Given the description of an element on the screen output the (x, y) to click on. 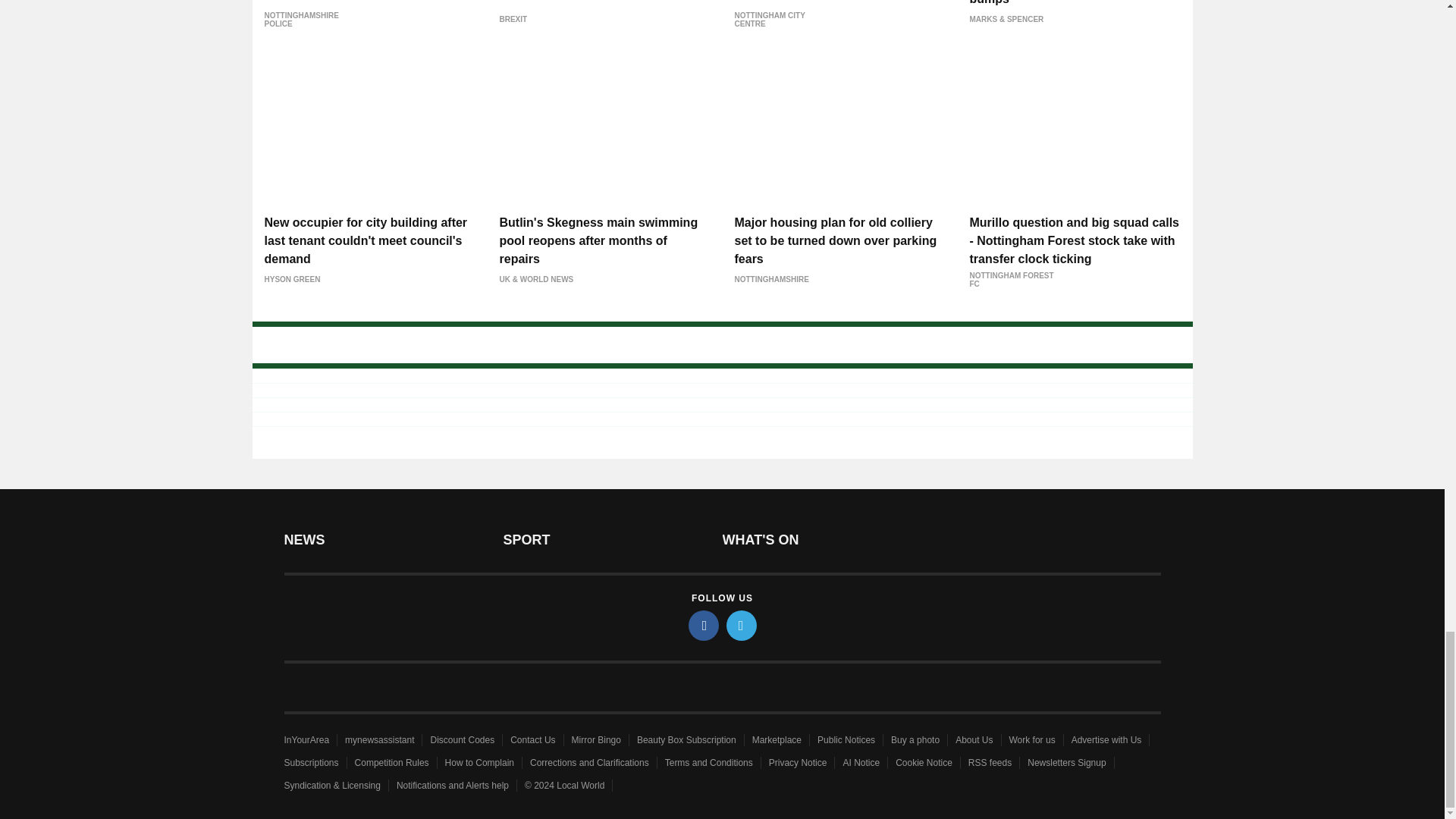
facebook (703, 625)
twitter (741, 625)
